Given the description of an element on the screen output the (x, y) to click on. 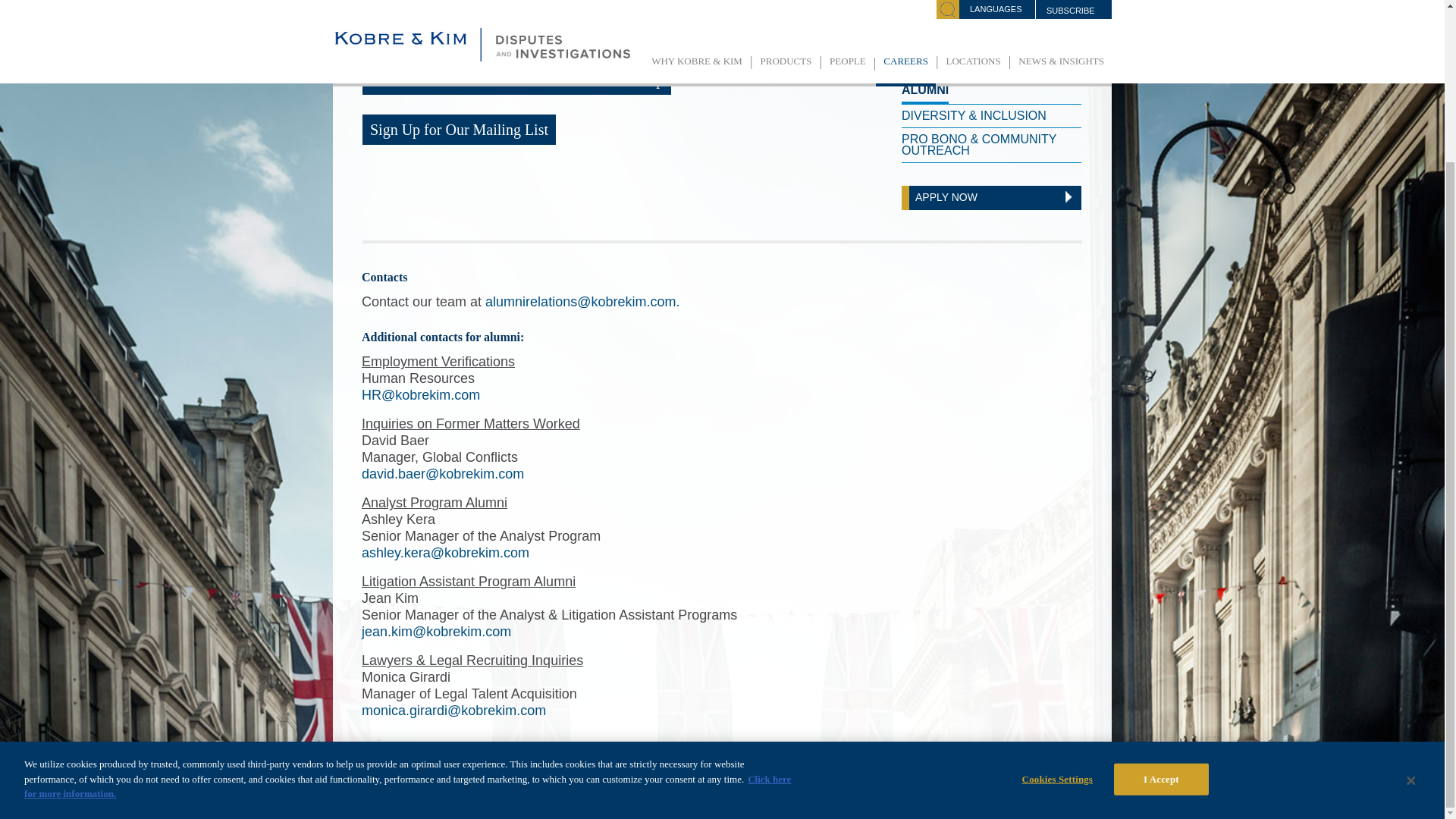
The Litigation Assistant Program (991, 36)
Alumni (925, 91)
The Analyst Program (974, 9)
Business Professionals (984, 66)
Sign Up for Our Mailing List (459, 129)
